Given the description of an element on the screen output the (x, y) to click on. 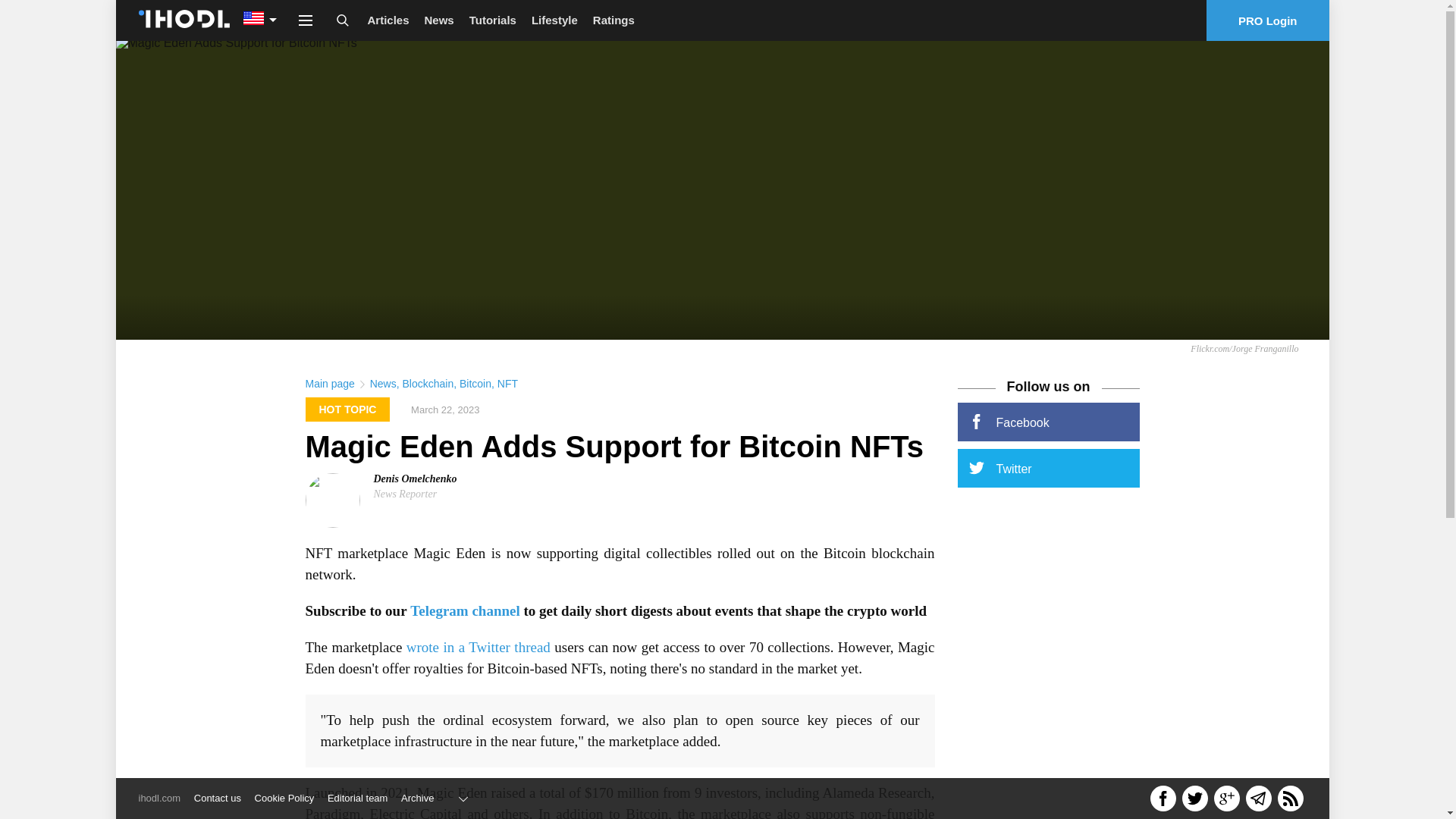
Denis Omelchenko (414, 478)
wrote in a Twitter thread (478, 647)
Ratings (613, 20)
PRO Login (1268, 20)
NFT (507, 383)
Tutorials (492, 20)
News (438, 20)
News Reporter (404, 493)
Bitcoin (476, 383)
Main page (328, 383)
Articles (387, 20)
Lifestyle (554, 20)
Blockchain (426, 383)
Telegram channel (464, 610)
News (382, 383)
